Given the description of an element on the screen output the (x, y) to click on. 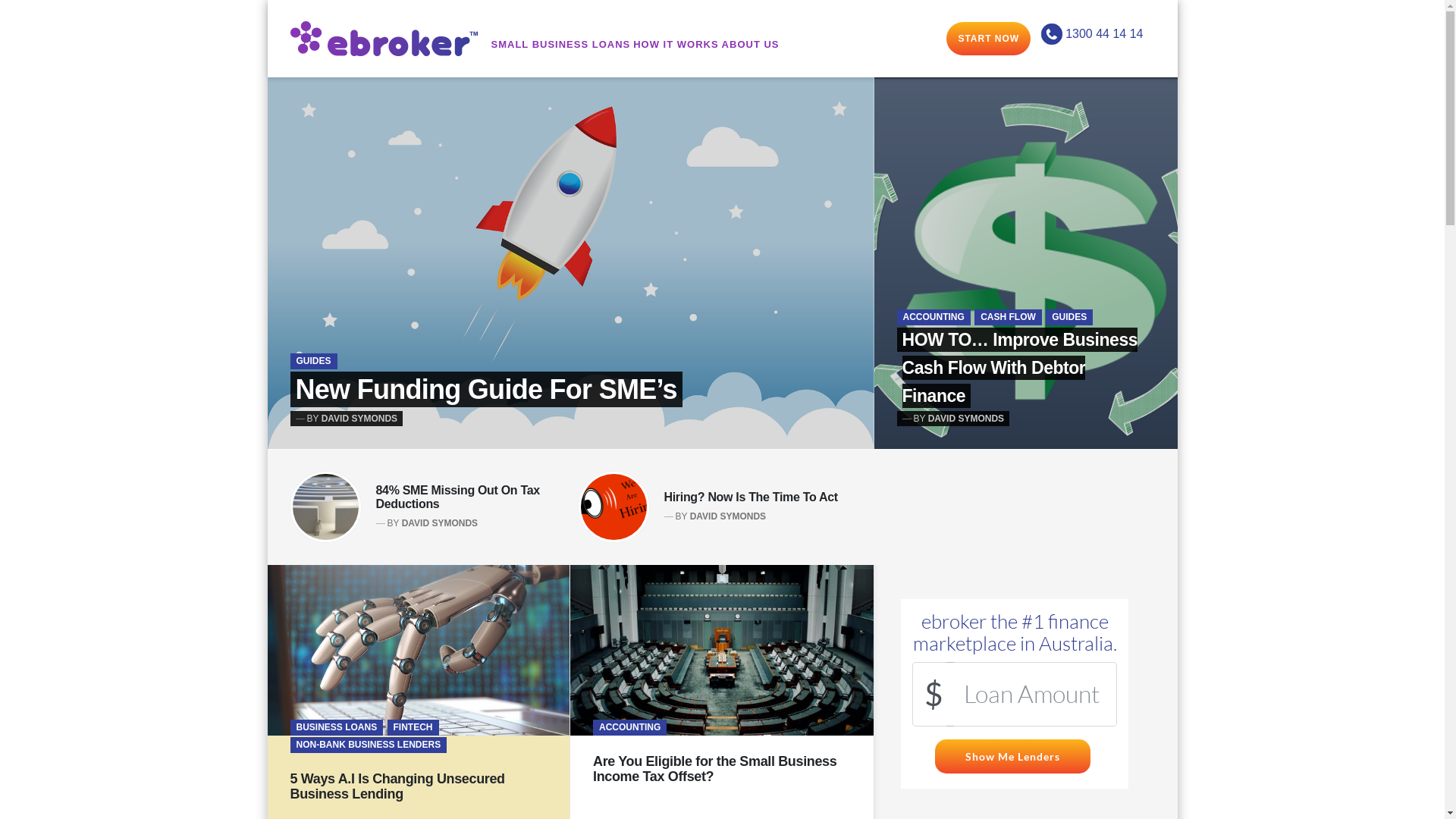
START NOW Element type: text (988, 38)
DAVID SYMONDS Element type: text (727, 516)
DAVID SYMONDS Element type: text (966, 418)
1300 44 14 14 Element type: text (1090, 33)
NON-BANK BUSINESS LENDERS Element type: text (367, 745)
FINTECH Element type: text (413, 727)
Are You Eligible for the Small Business Income Tax Offset? Element type: text (714, 768)
BUSINESS LOANS Element type: text (335, 727)
ACCOUNTING Element type: text (932, 317)
DAVID SYMONDS Element type: text (439, 522)
GUIDES Element type: text (312, 361)
ACCOUNTING Element type: text (629, 727)
84% SME Missing Out On Tax Deductions Element type: text (457, 497)
5 Ways A.I Is Changing Unsecured Business Lending Element type: text (396, 786)
ABOUT US Element type: text (750, 44)
GUIDES Element type: text (1068, 317)
Skip to content Element type: text (266, 0)
CASH FLOW Element type: text (1007, 317)
DAVID SYMONDS Element type: text (359, 418)
HOW IT WORKS Element type: text (675, 44)
Hiring? Now Is The Time To Act Element type: text (750, 497)
SMALL BUSINESS LOANS Element type: text (560, 44)
